Given the description of an element on the screen output the (x, y) to click on. 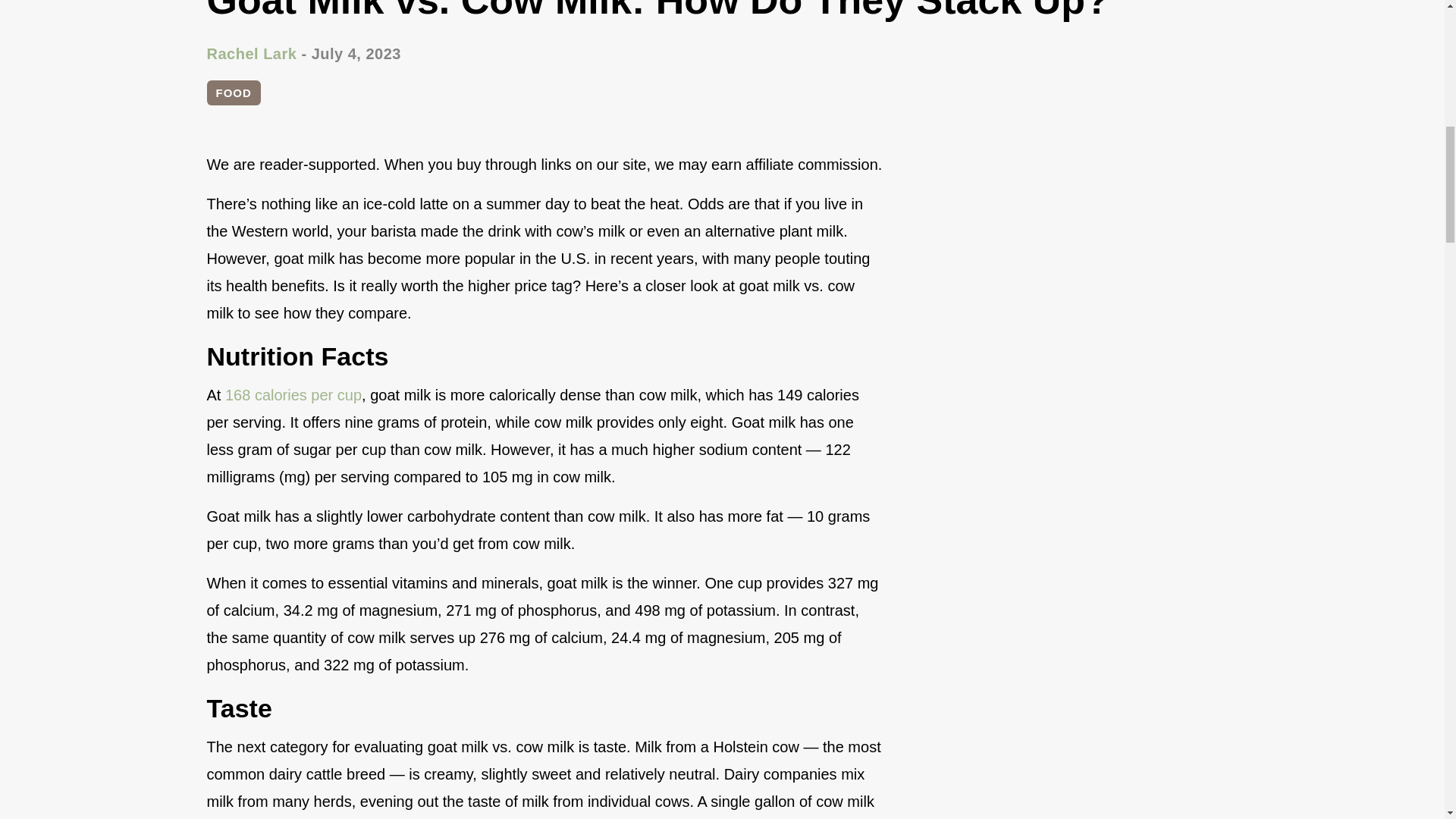
Rachel Lark (251, 53)
FOOD (233, 93)
168 calories per cup (293, 394)
